Given the description of an element on the screen output the (x, y) to click on. 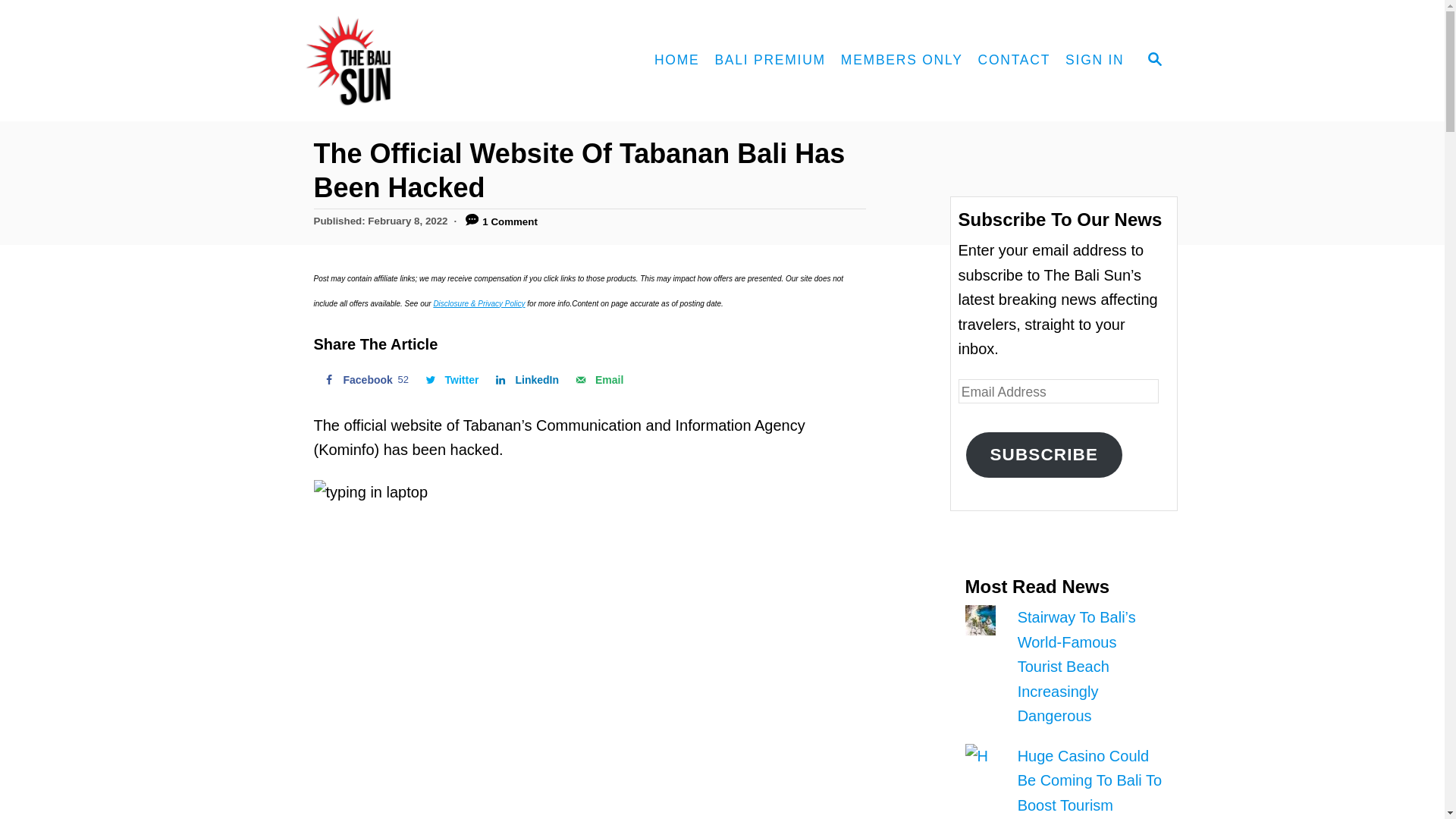
SEARCH (1153, 60)
SUBSCRIBE (1044, 454)
MEMBERS ONLY (901, 60)
The Bali Sun (403, 60)
LinkedIn (525, 379)
Share on LinkedIn (525, 379)
Share on Twitter (450, 379)
HOME (676, 60)
Email (598, 379)
Twitter (450, 379)
SIGN IN (1094, 60)
BALI PREMIUM (364, 379)
CONTACT (769, 60)
